Given the description of an element on the screen output the (x, y) to click on. 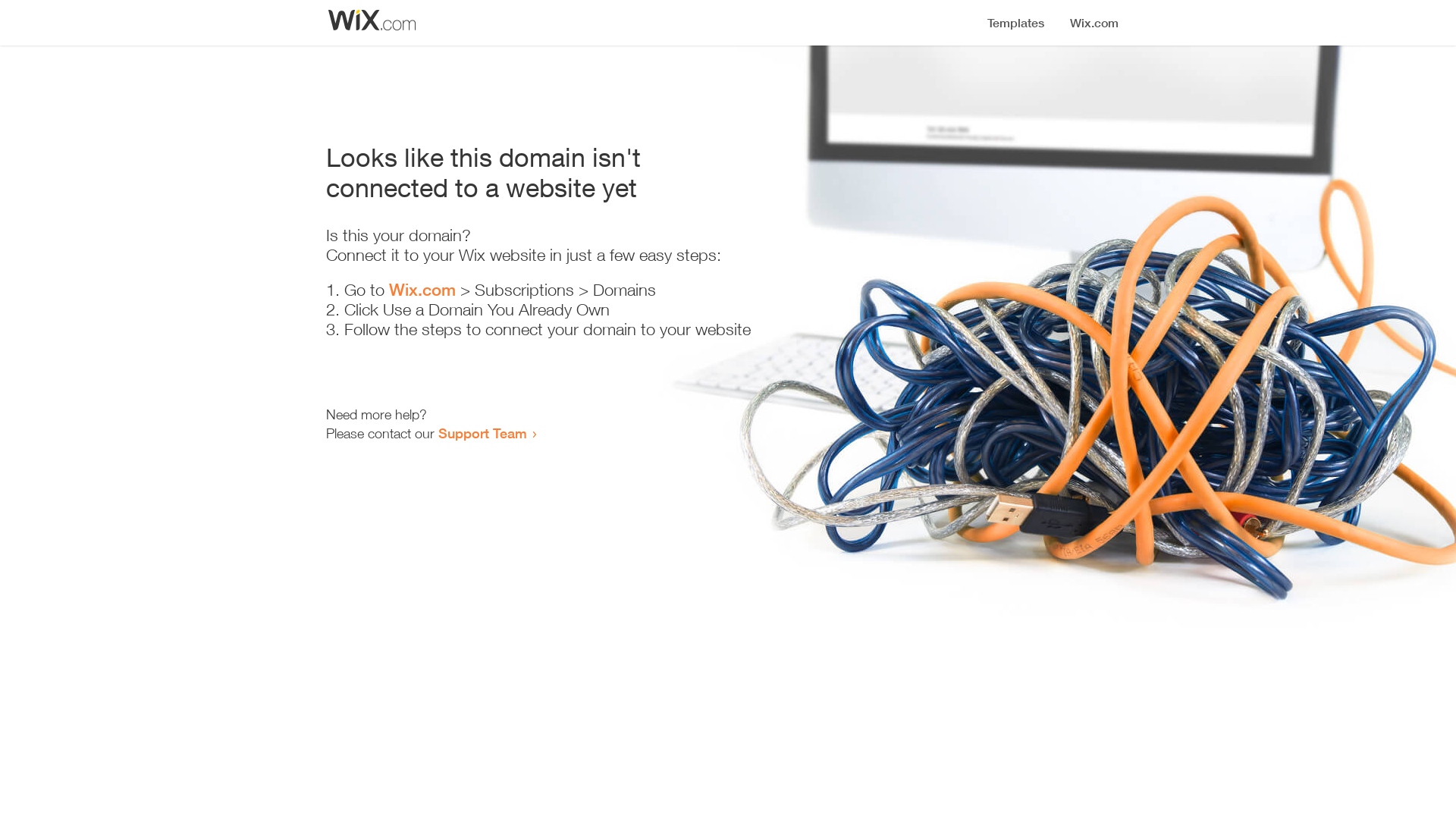
Wix.com Element type: text (422, 289)
Support Team Element type: text (482, 432)
